Given the description of an element on the screen output the (x, y) to click on. 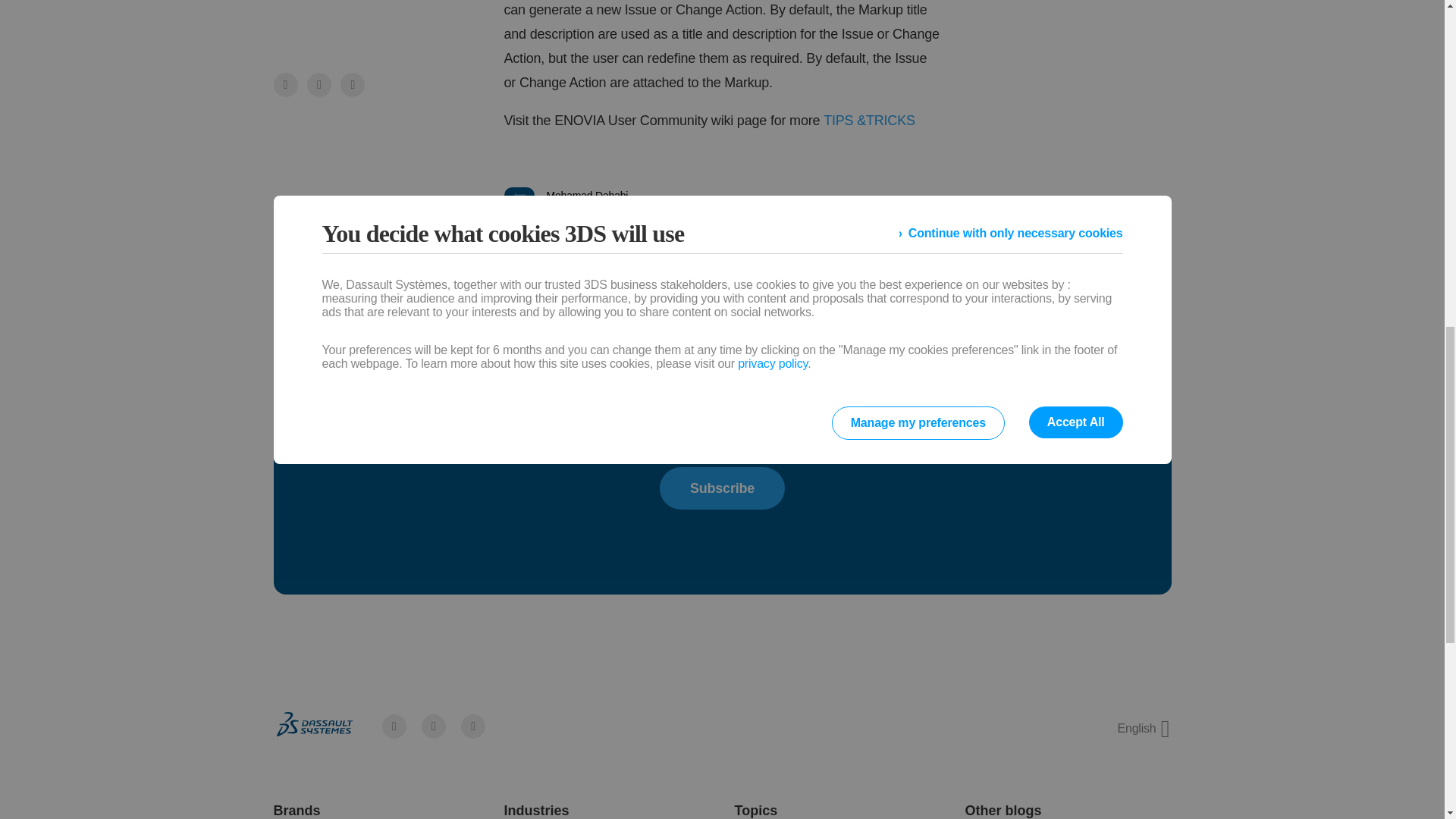
Linkedin account (472, 726)
Twitter account (433, 726)
Facebook account (393, 726)
